Given the description of an element on the screen output the (x, y) to click on. 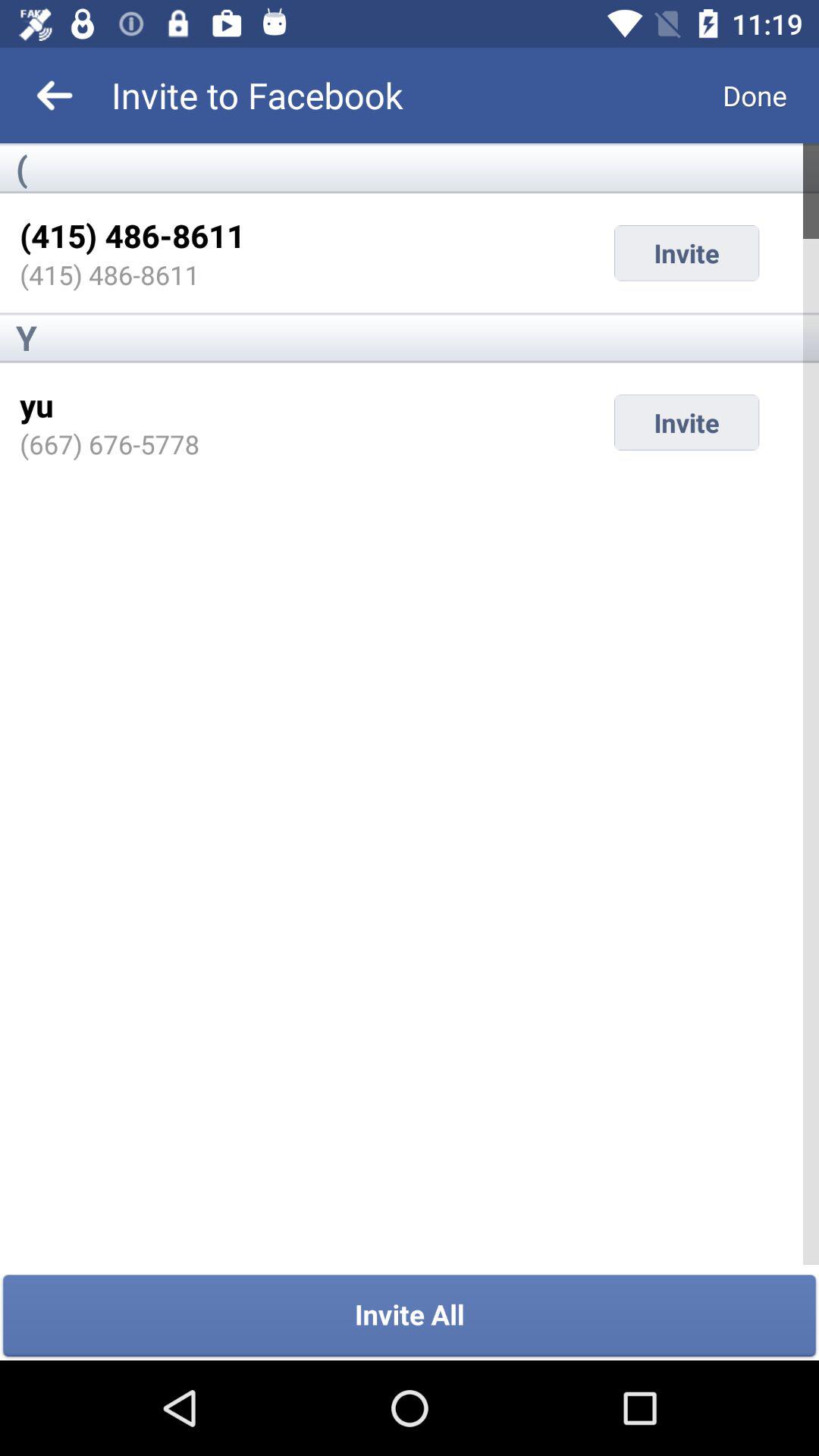
turn on item next to invite item (36, 404)
